Given the description of an element on the screen output the (x, y) to click on. 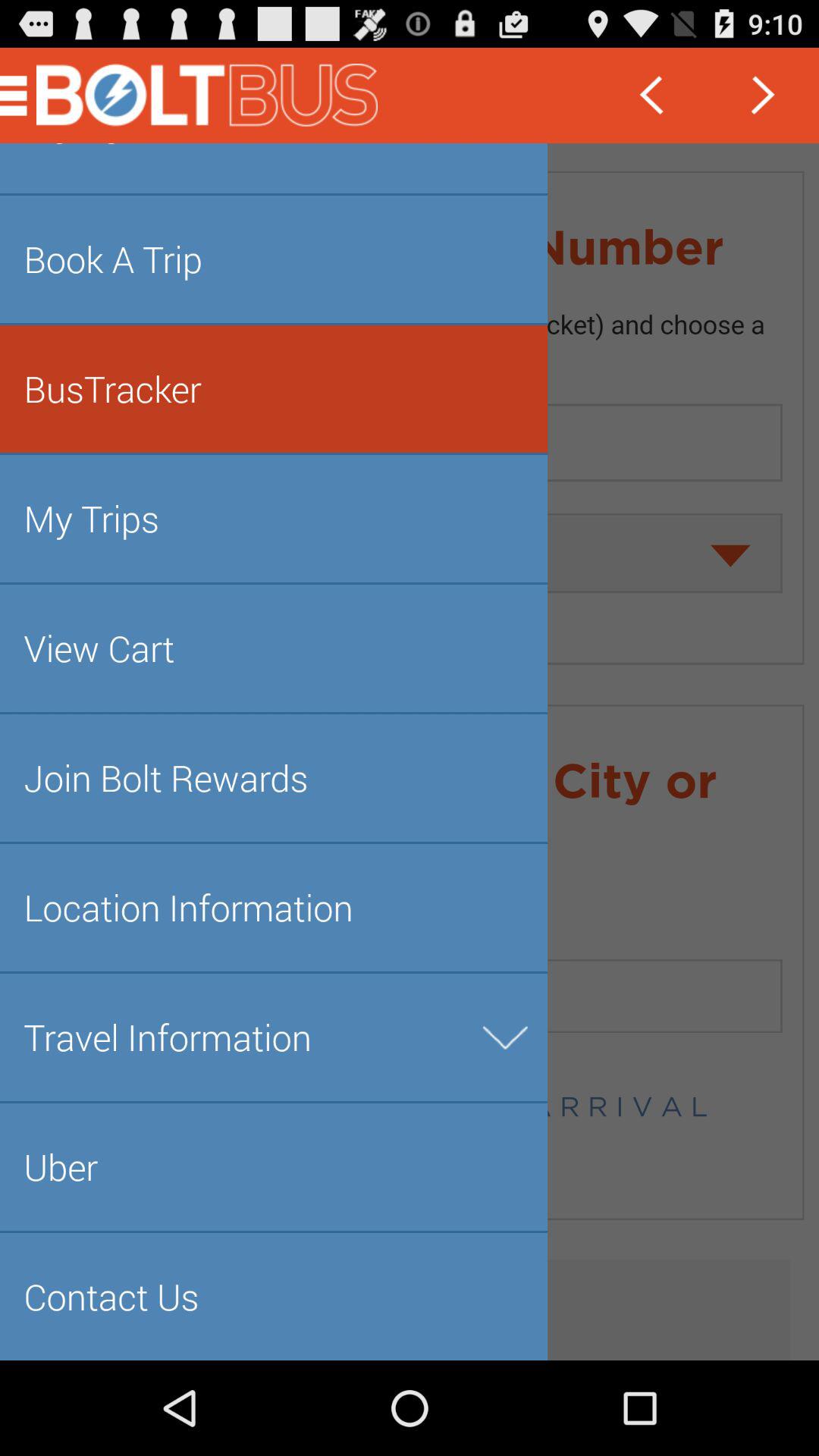
select various information (409, 751)
